Given the description of an element on the screen output the (x, y) to click on. 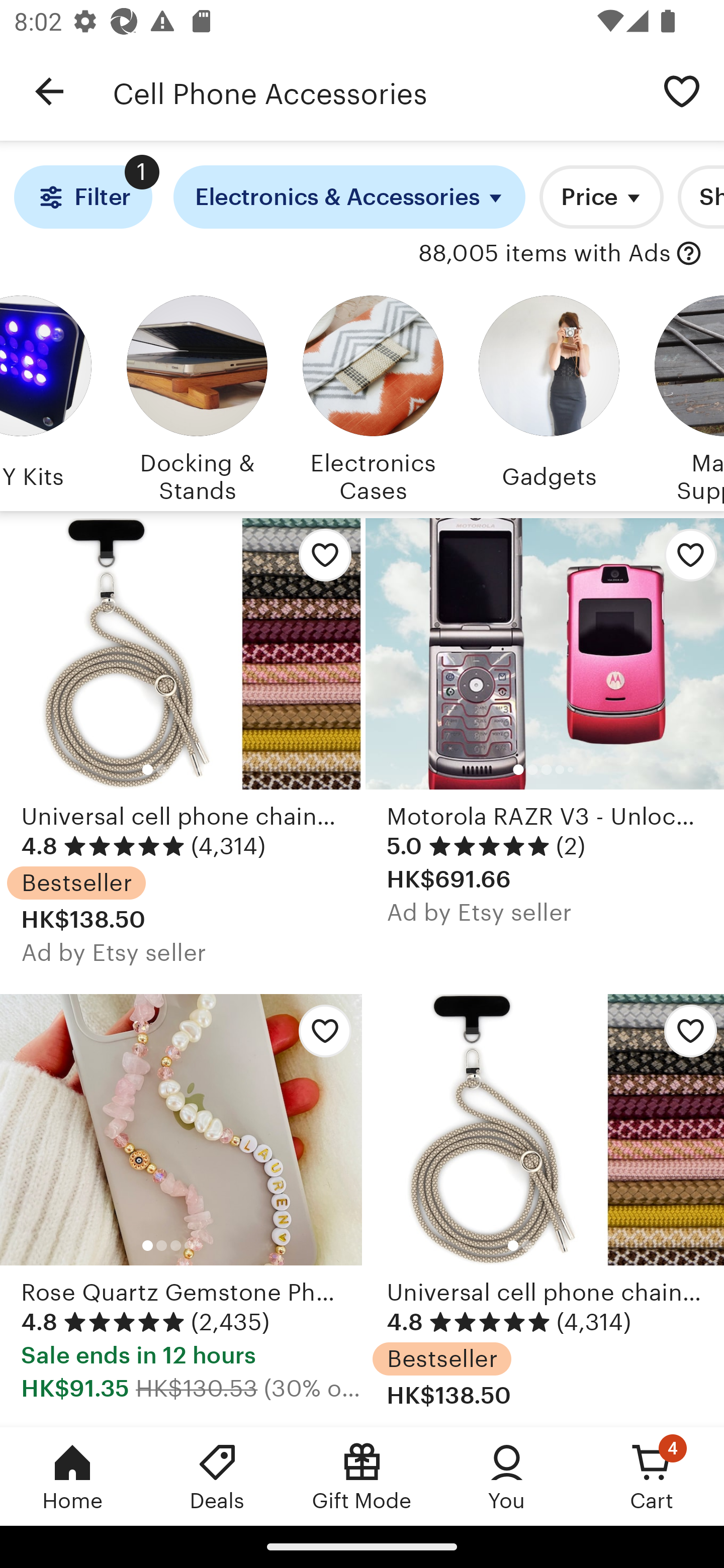
Navigate up (49, 91)
Save search (681, 90)
Cell Phone Accessories (375, 91)
Filter (82, 197)
Electronics & Accessories (349, 197)
Price (601, 197)
88,005 items with Ads (544, 253)
with Ads (688, 253)
Docking & Stands (196, 395)
Electronics Cases (372, 395)
Gadgets (548, 395)
Deals (216, 1475)
Gift Mode (361, 1475)
You (506, 1475)
Cart, 4 new notifications Cart (651, 1475)
